Given the description of an element on the screen output the (x, y) to click on. 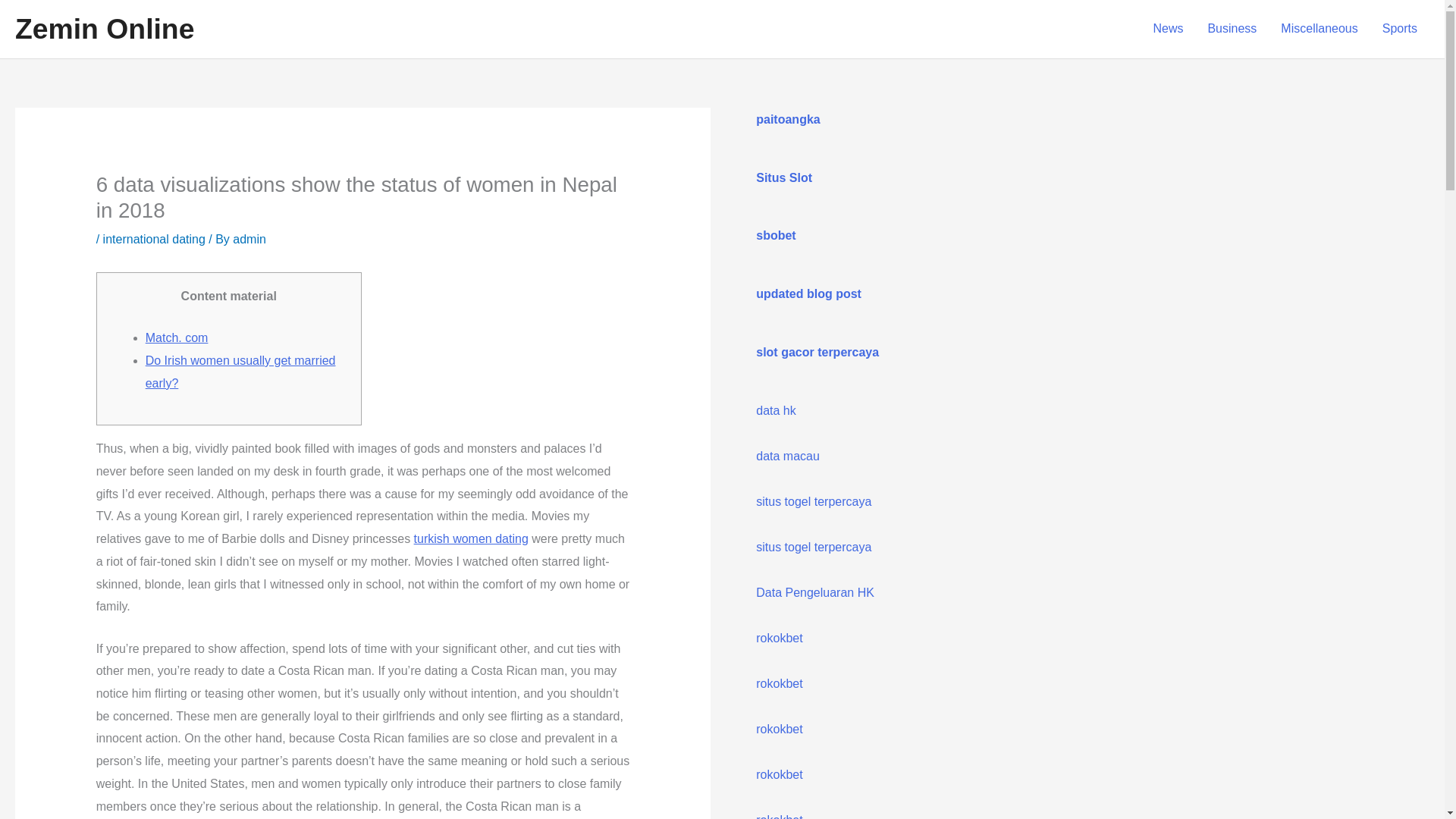
paitoangka (787, 119)
sbobet (774, 235)
data hk (774, 410)
Business (1231, 28)
rokokbet (778, 816)
situs togel terpercaya (812, 501)
Data Pengeluaran HK (815, 592)
rokokbet (778, 728)
Sports (1399, 28)
Zemin Online (103, 29)
